Given the description of an element on the screen output the (x, y) to click on. 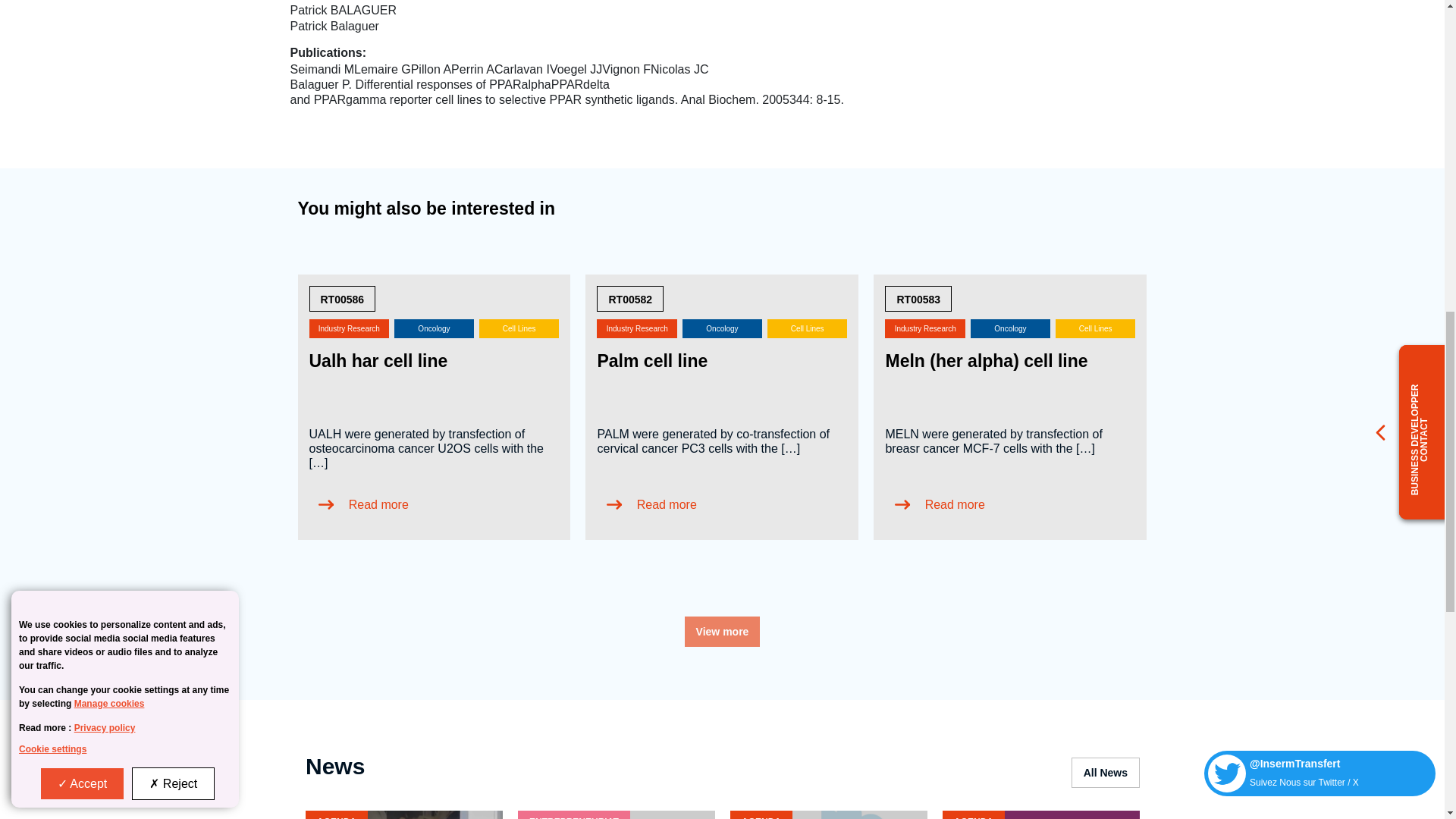
Cell Lines (1095, 341)
Read more (361, 504)
Oncology (724, 341)
Palm cell line (651, 361)
Cell Lines (807, 341)
Oncology (436, 341)
Oncology (1013, 341)
Read more (649, 504)
Ualh har cell line (378, 361)
Cell Lines (519, 341)
Read more (938, 504)
